Given the description of an element on the screen output the (x, y) to click on. 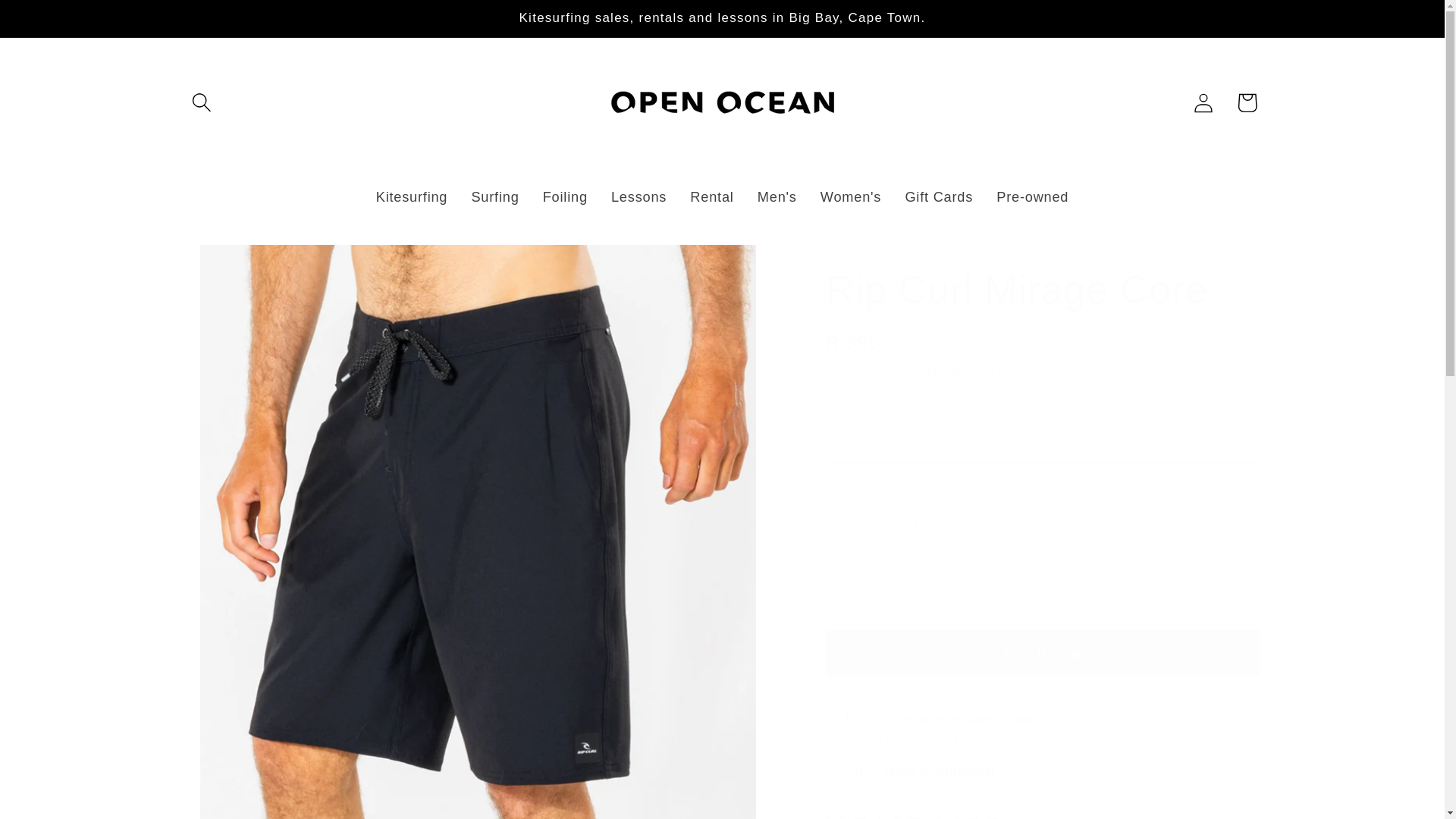
Skip to content (59, 22)
Women's (850, 197)
Cart (1246, 102)
Men's (776, 197)
Skip to product information (238, 267)
Pre-owned (1032, 197)
Surfing (495, 197)
Shipping (933, 369)
Kitesurfing (412, 197)
Gift Cards (939, 197)
